Given the description of an element on the screen output the (x, y) to click on. 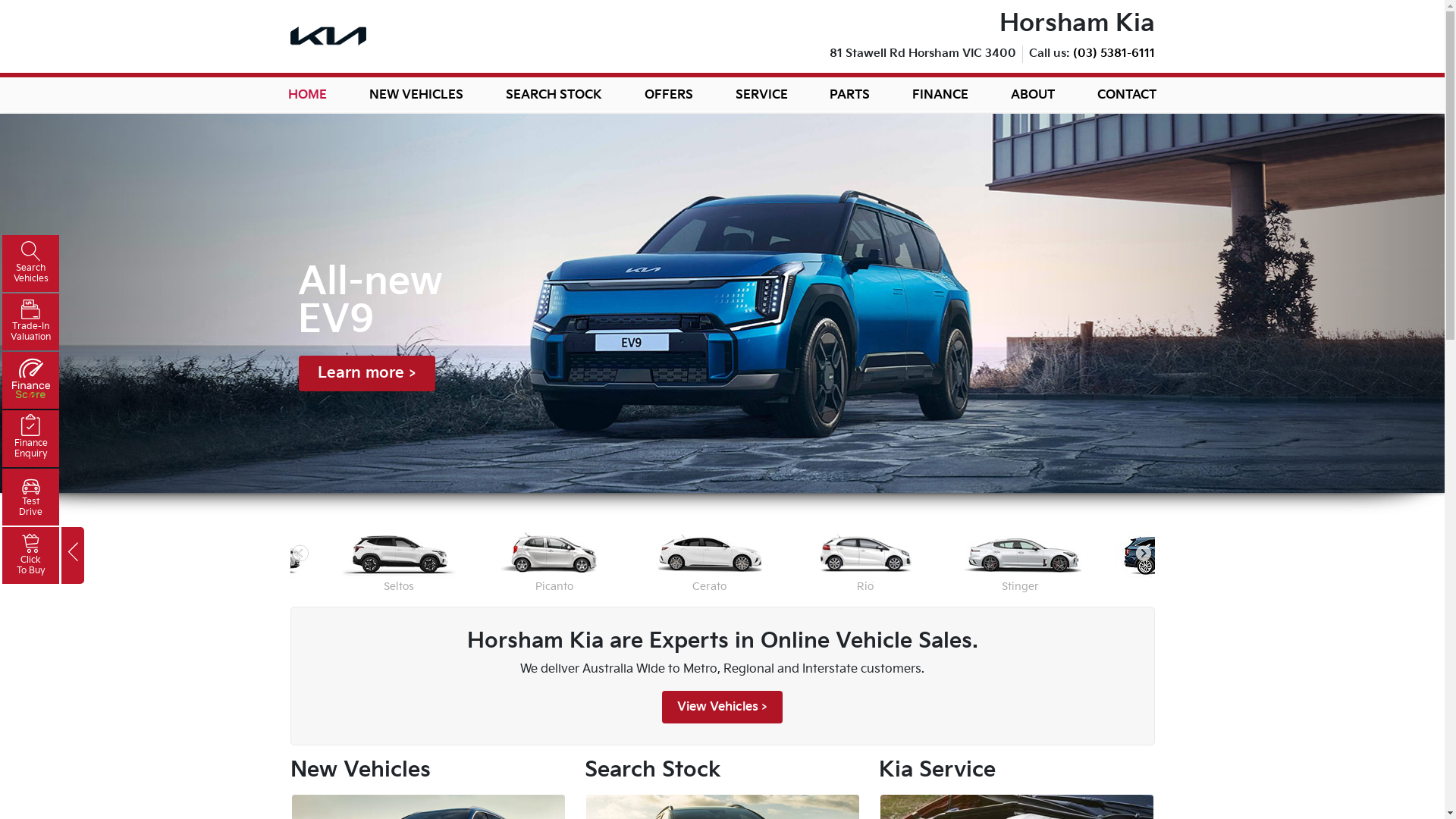
SERVICE Element type: text (761, 93)
ABOUT Element type: text (1032, 93)
Search
Vehicles Element type: text (30, 263)
HOME Element type: text (307, 93)
View Vehicles > Element type: text (722, 706)
PARTS Element type: text (849, 93)
Learn more > Element type: text (366, 373)
CONTACT Element type: text (1126, 93)
Trade-In
Valuation Element type: text (30, 321)
SEARCH STOCK Element type: text (553, 93)
Click
To Buy Element type: text (30, 555)
Finance
Enquiry Element type: text (30, 438)
Test
Drive Element type: text (30, 496)
FINANCE Element type: text (940, 93)
OFFERS Element type: text (668, 93)
NEW VEHICLES Element type: text (416, 93)
(03) 5381-6111 Element type: text (1113, 53)
